Given the description of an element on the screen output the (x, y) to click on. 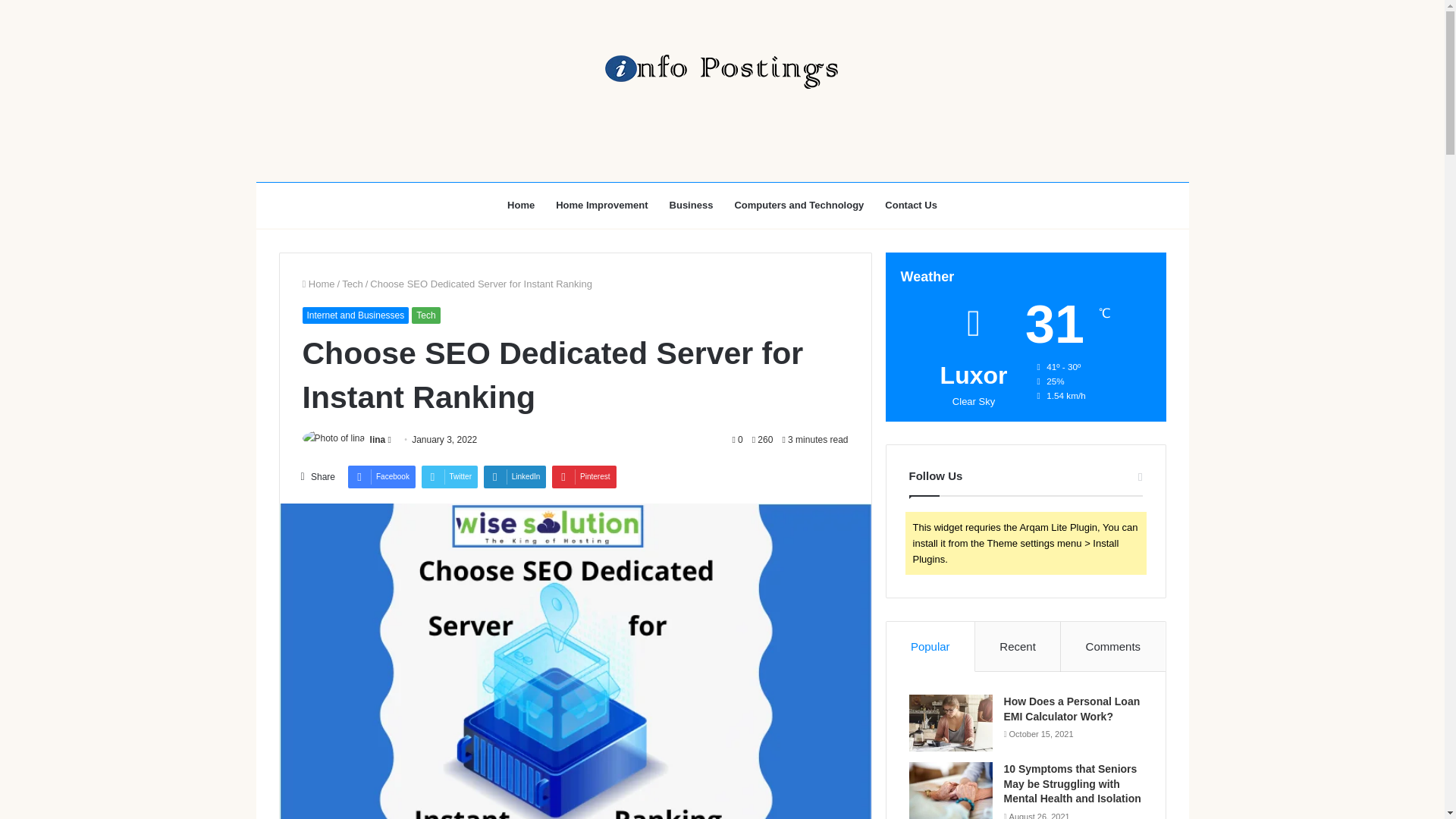
Pinterest (583, 477)
Internet and Businesses (355, 315)
Twitter (449, 477)
Info Postings (721, 71)
Home Improvement (601, 205)
Facebook (380, 477)
Home (520, 205)
Contact Us (911, 205)
lina (377, 439)
Tech (425, 315)
